Given the description of an element on the screen output the (x, y) to click on. 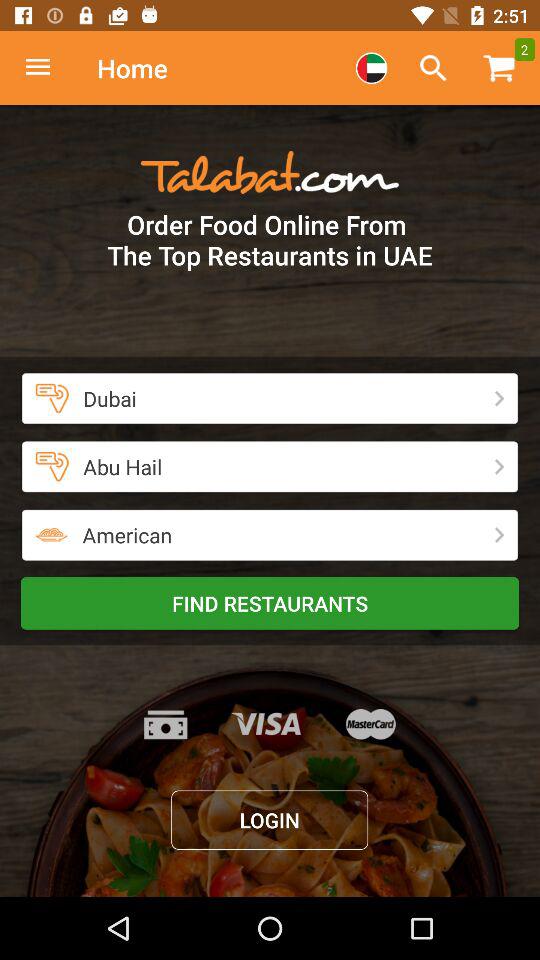
go to homepage (48, 67)
